Given the description of an element on the screen output the (x, y) to click on. 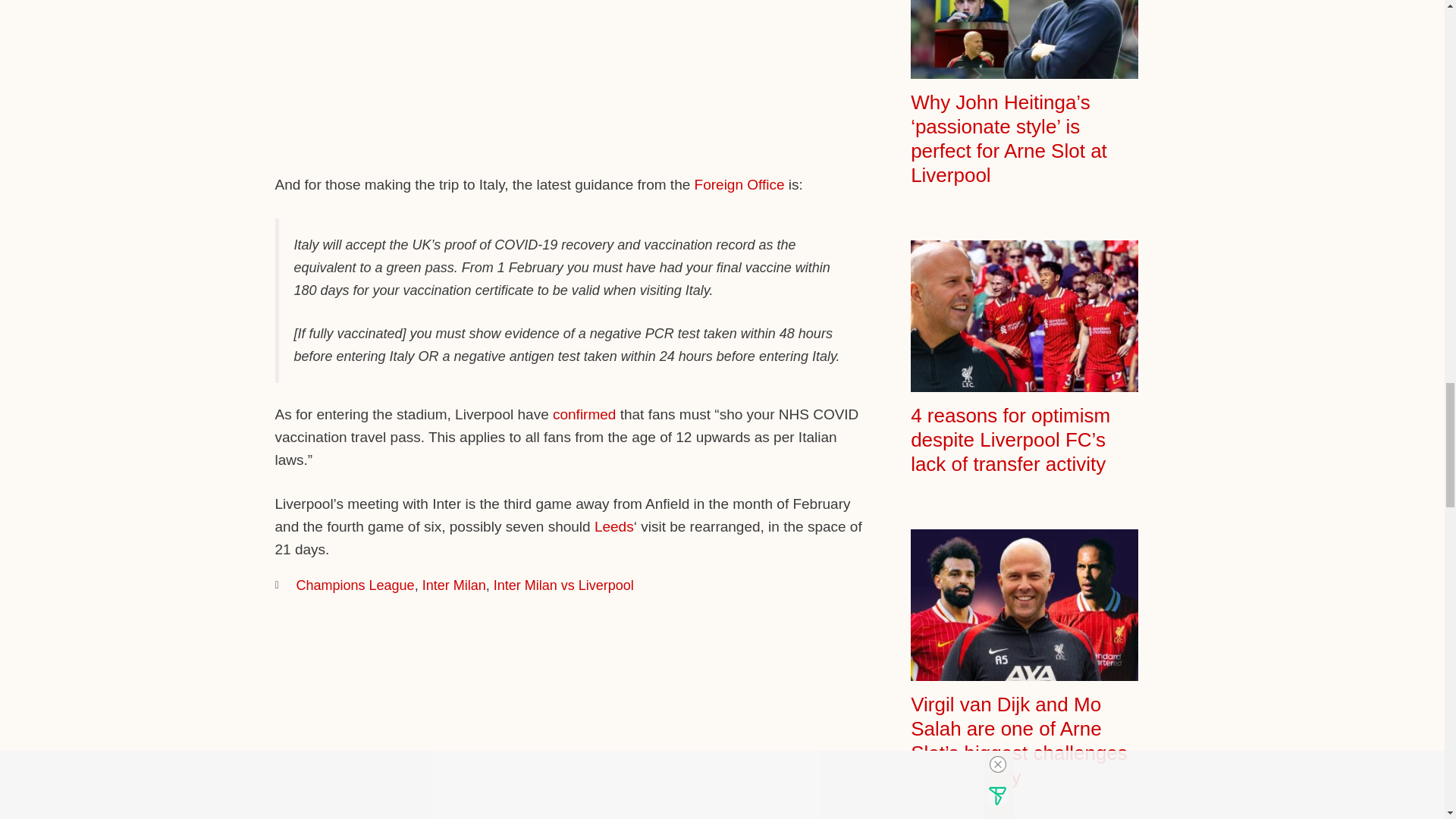
3rd party ad content (568, 7)
